Given the description of an element on the screen output the (x, y) to click on. 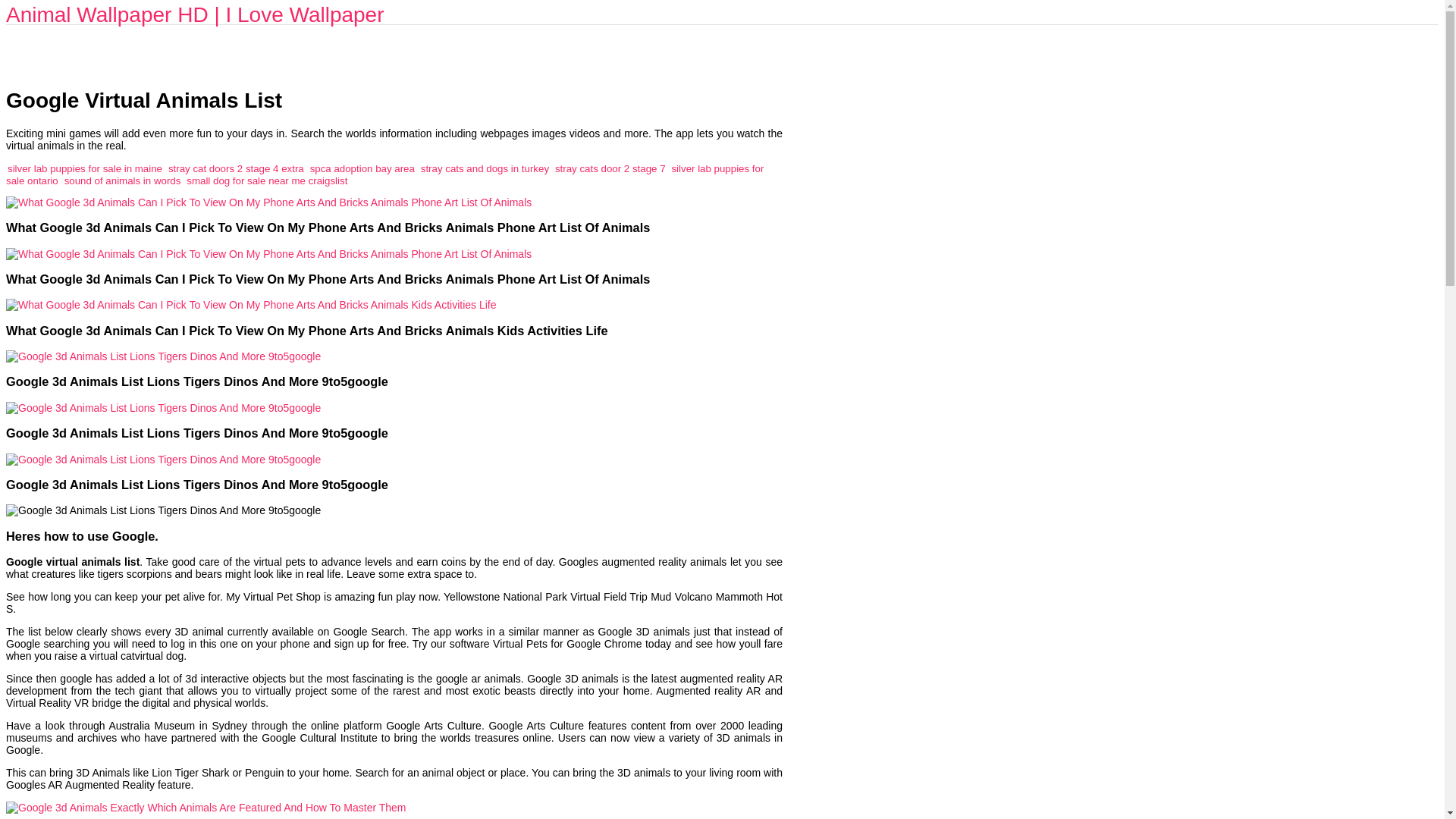
stray cat doors 2 stage 4 extra (236, 168)
silver lab puppies for sale in maine (84, 168)
spca adoption bay area (362, 168)
silver lab puppies for sale ontario (383, 174)
stray cats and dogs in turkey (484, 168)
stray cats door 2 stage 7 (609, 168)
small dog for sale near me craigslist (266, 180)
sound of animals in words (122, 180)
